Given the description of an element on the screen output the (x, y) to click on. 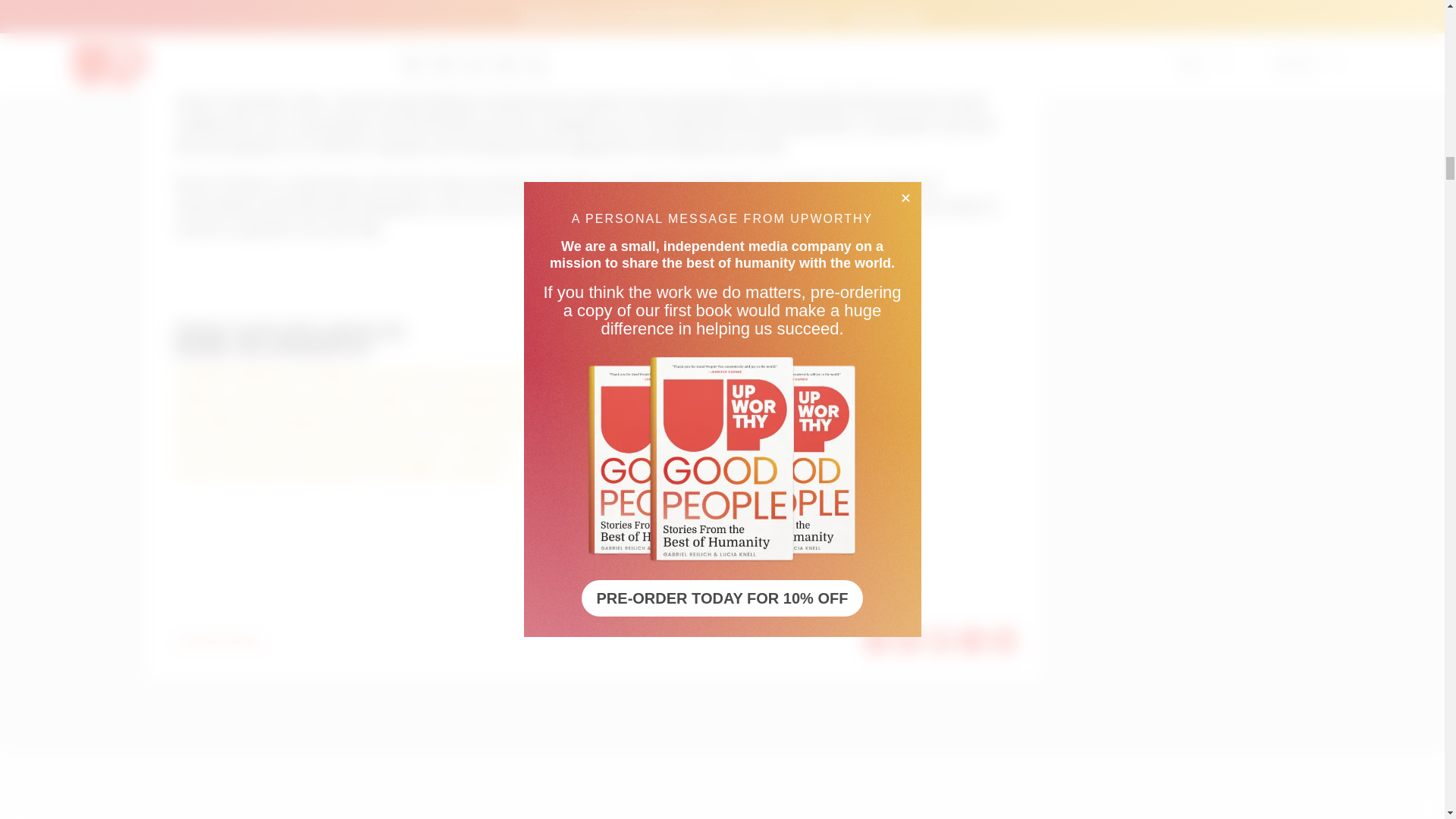
Copy this link to clipboard (1003, 640)
